Given the description of an element on the screen output the (x, y) to click on. 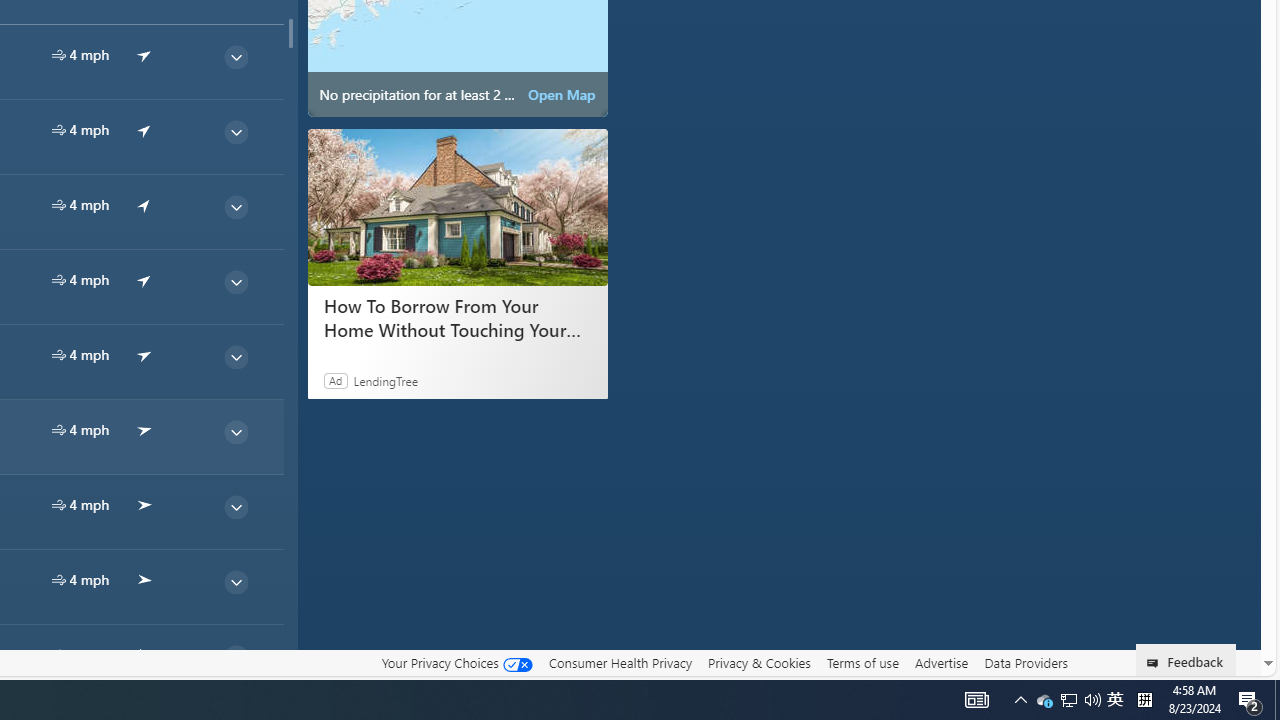
hourlyTable/wind (58, 654)
Class: feedback_link_icon-DS-EntryPoint1-1 (1156, 663)
